Given the description of an element on the screen output the (x, y) to click on. 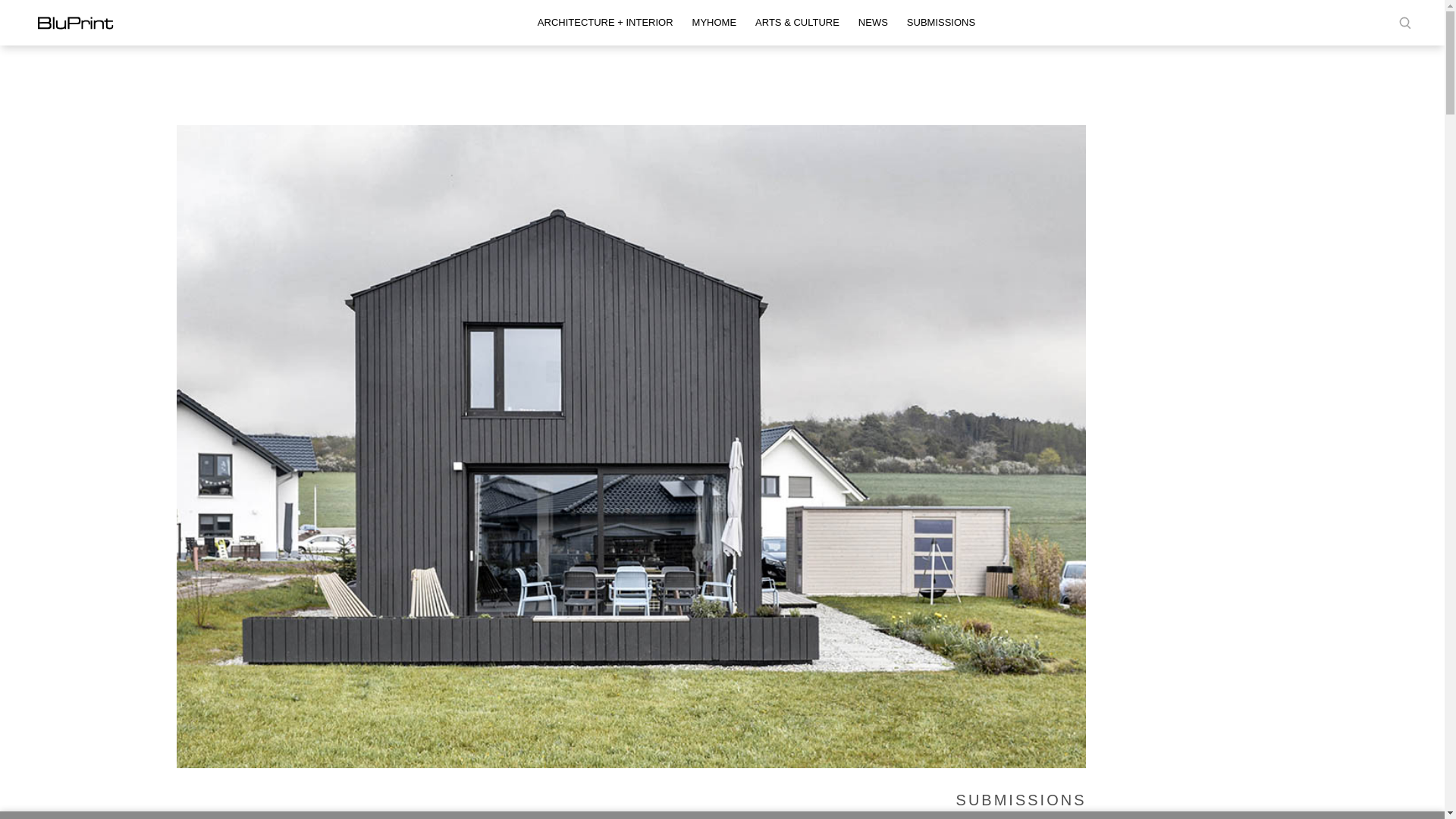
SUBMISSIONS (940, 22)
MYHOME (714, 22)
Search (9, 8)
SUBMISSIONS (1021, 799)
NEWS (872, 22)
